Given the description of an element on the screen output the (x, y) to click on. 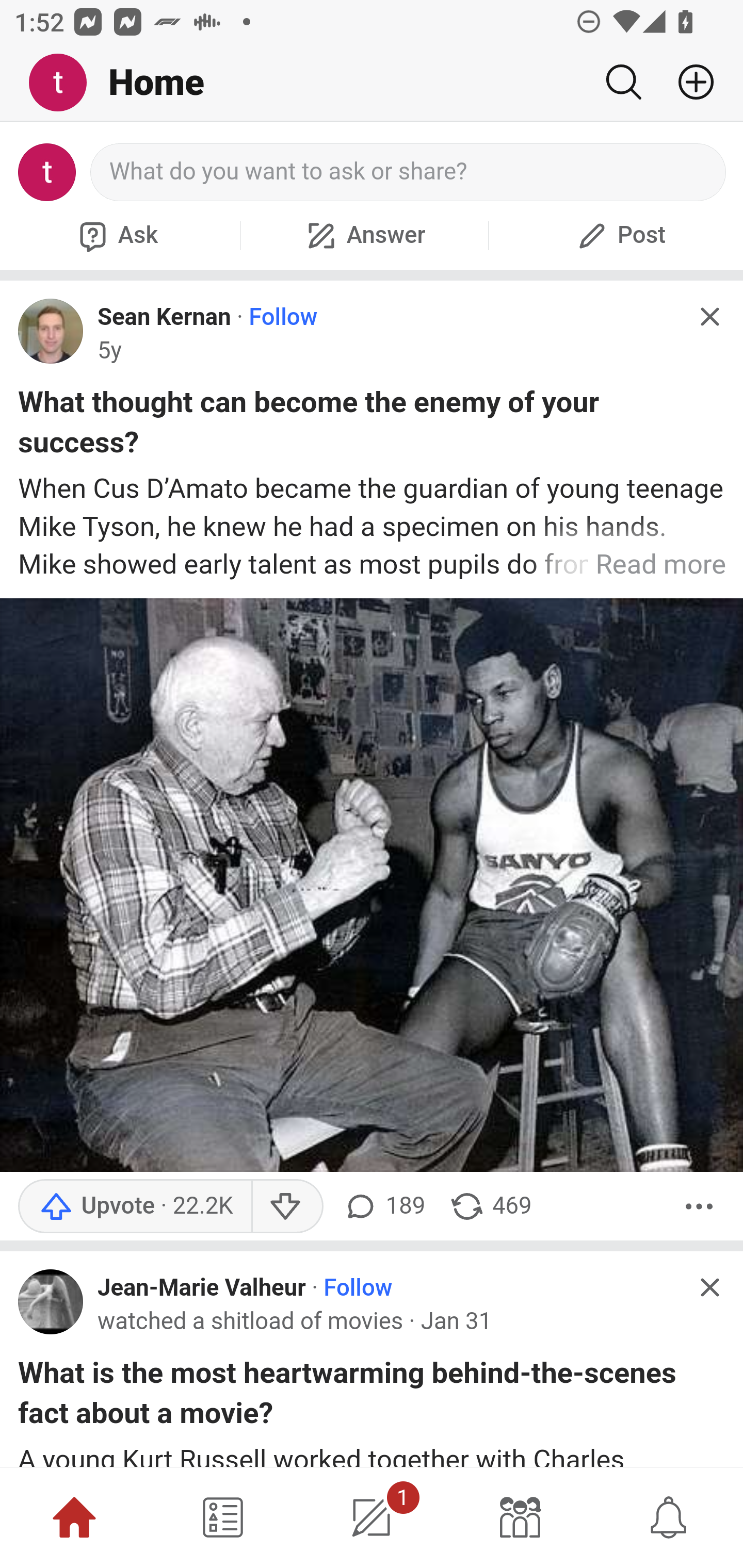
Me (64, 83)
Search (623, 82)
Add (688, 82)
What do you want to ask or share? (408, 172)
Ask (116, 234)
Answer (364, 234)
Post (618, 234)
Hide (709, 316)
Profile photo for Sean Kernan (50, 330)
Sean Kernan (164, 316)
Follow (283, 316)
Upvote (134, 1205)
Downvote (287, 1205)
189 comments (383, 1205)
469 shares (490, 1205)
More (699, 1205)
Hide (709, 1286)
Profile photo for Jean-Marie Valheur (50, 1301)
Jean-Marie Valheur (201, 1288)
Follow (358, 1288)
1 (371, 1517)
